Given the description of an element on the screen output the (x, y) to click on. 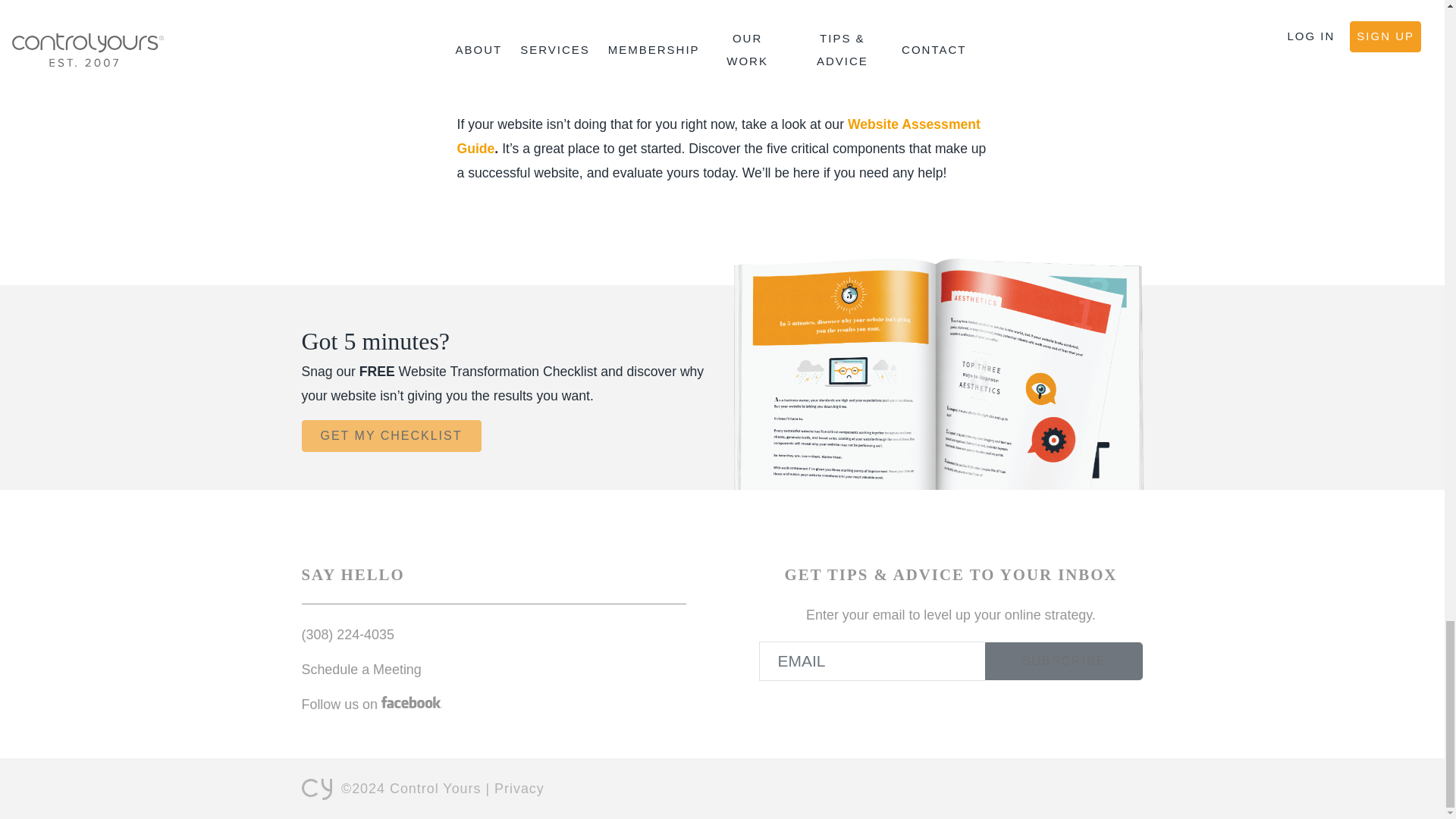
Privacy (519, 788)
GET MY CHECKLIST (391, 436)
Follow us on (371, 703)
Website Assessment Guide (718, 136)
Schedule a Meeting (361, 669)
SUBSCRIBE (1063, 661)
